Given the description of an element on the screen output the (x, y) to click on. 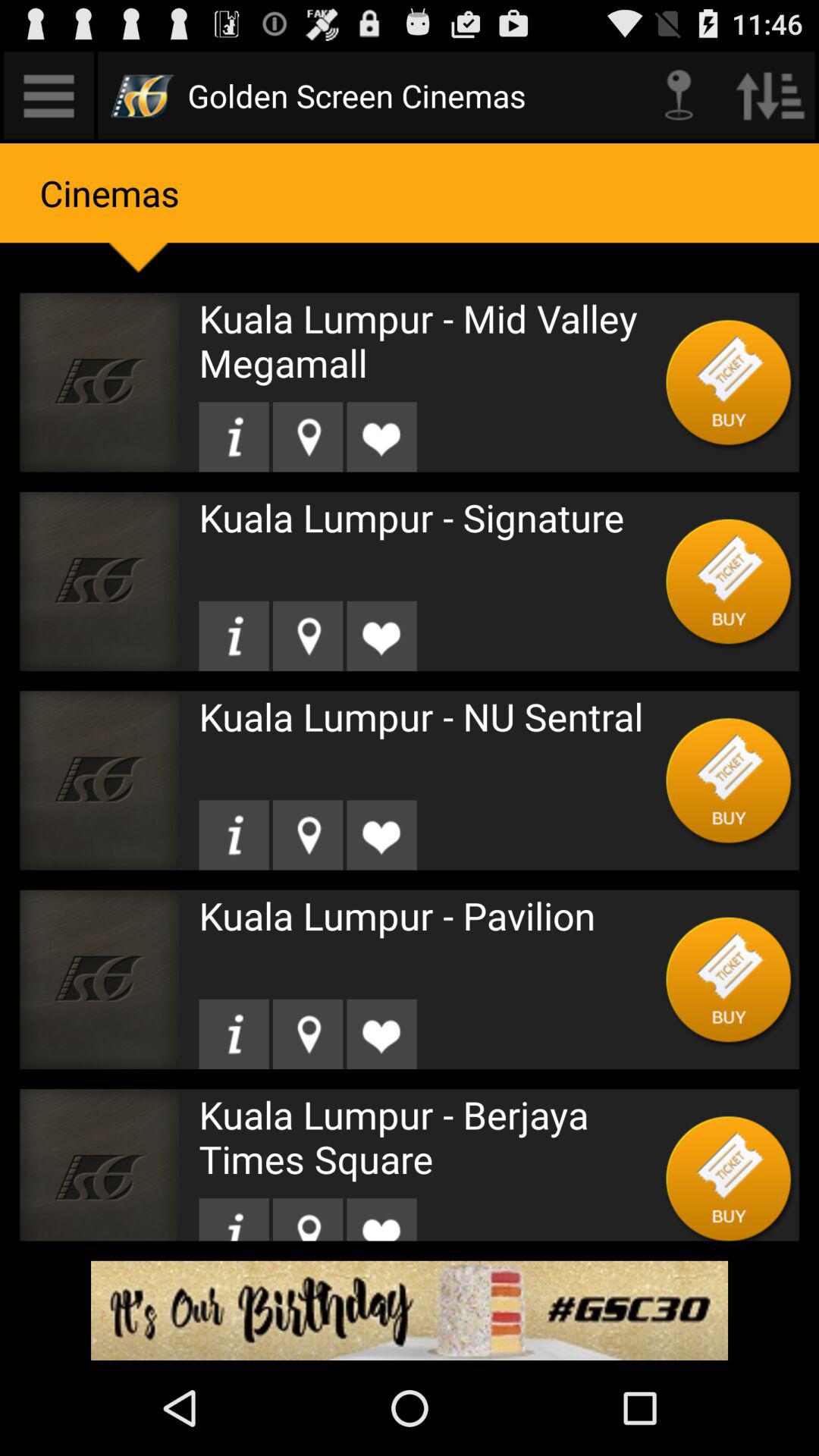
go do sealet (234, 1219)
